Given the description of an element on the screen output the (x, y) to click on. 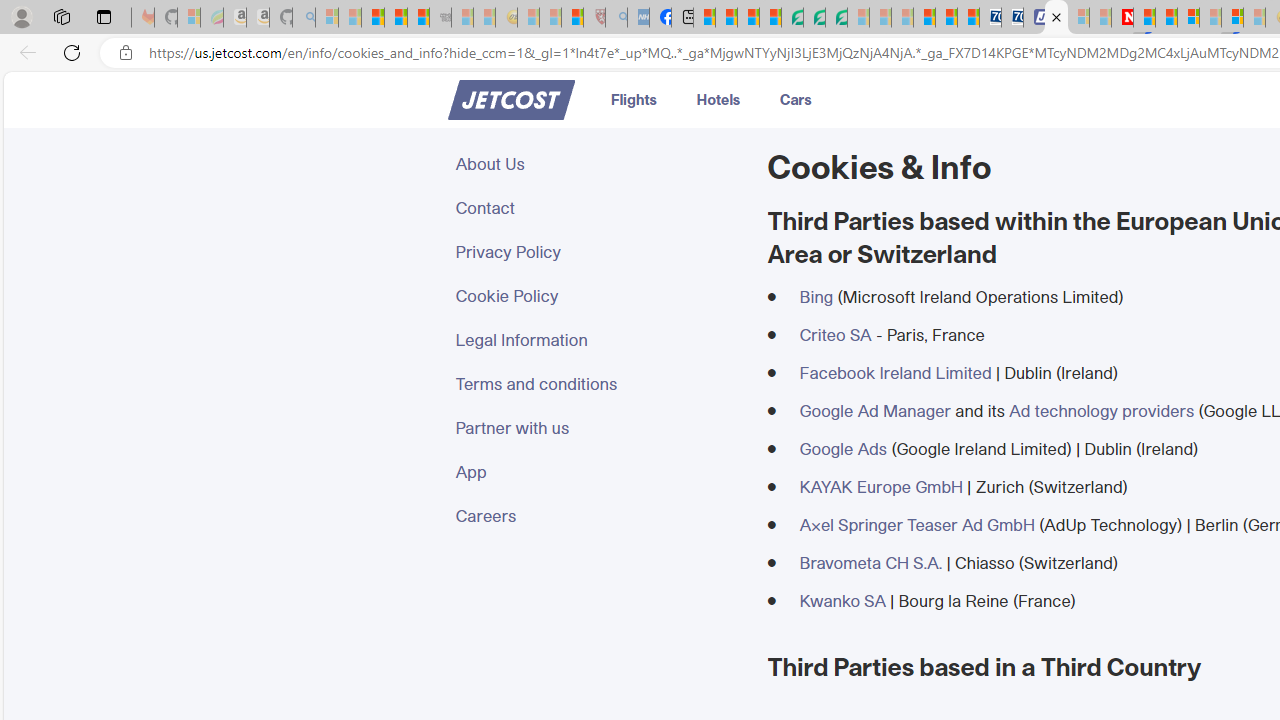
Cookie Policy (599, 295)
App (599, 471)
Contact (599, 207)
